Given the description of an element on the screen output the (x, y) to click on. 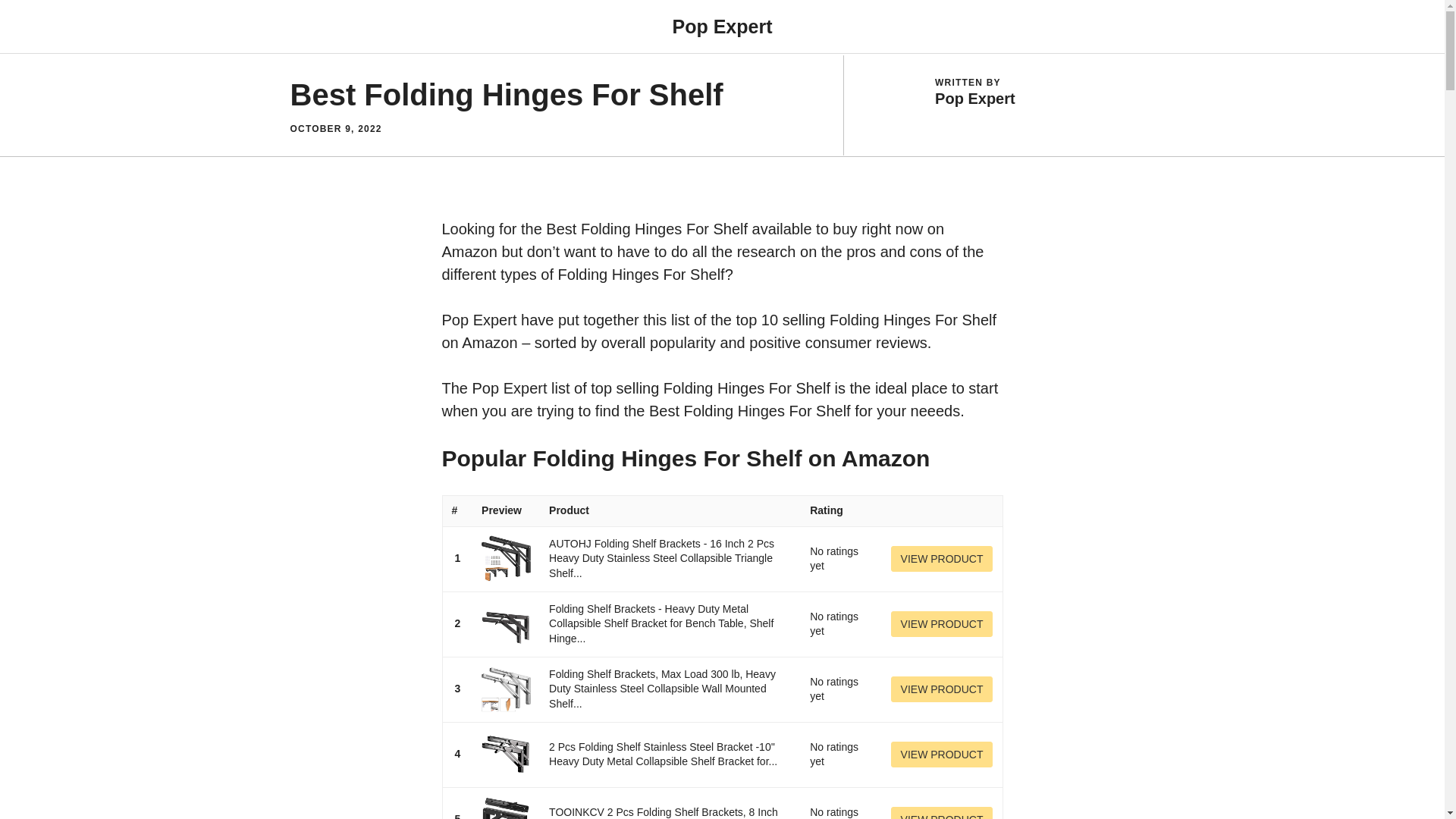
VIEW PRODUCT (941, 688)
Pop Expert (721, 25)
VIEW PRODUCT (941, 754)
VIEW PRODUCT (941, 623)
VIEW PRODUCT (941, 558)
VIEW PRODUCT (941, 623)
VIEW PRODUCT (941, 812)
